Given the description of an element on the screen output the (x, y) to click on. 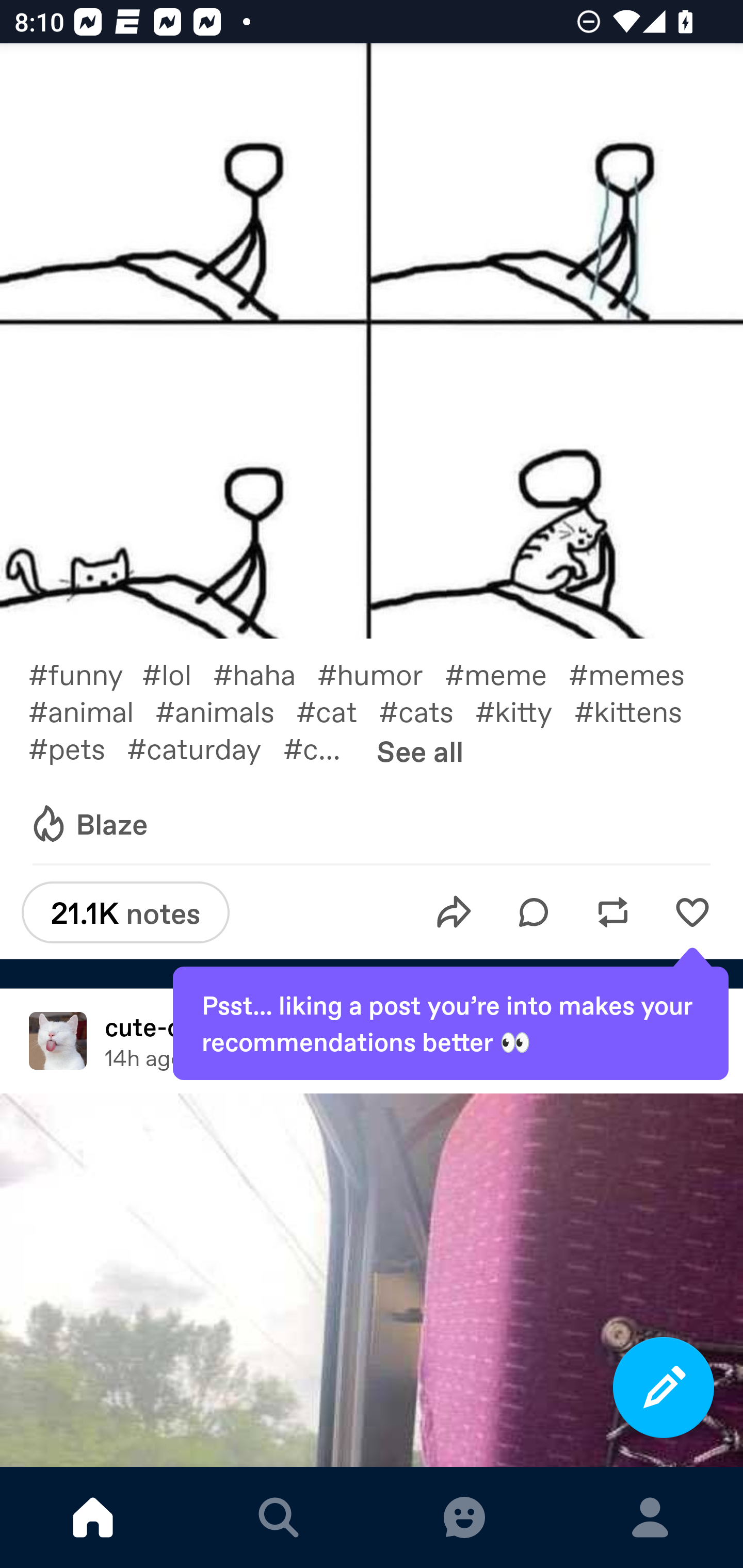
#funny (84, 673)
#lol (177, 673)
#haha (265, 673)
#humor (381, 673)
#meme (506, 673)
#memes (637, 673)
#animal (91, 710)
#animals (225, 710)
#cat (337, 710)
#cats (426, 710)
#kitty (524, 710)
#kittens (638, 710)
#pets (77, 747)
#caturday (205, 747)
#c… (322, 747)
See all (419, 751)
Blaze Blaze Blaze (88, 824)
Share post to message (454, 912)
Reply (533, 912)
Reblog (612, 912)
Like (691, 912)
21.1K notes (125, 912)
Compose a new post (663, 1387)
DASHBOARD (92, 1517)
EXPLORE (278, 1517)
MESSAGES (464, 1517)
ACCOUNT (650, 1517)
